Given the description of an element on the screen output the (x, y) to click on. 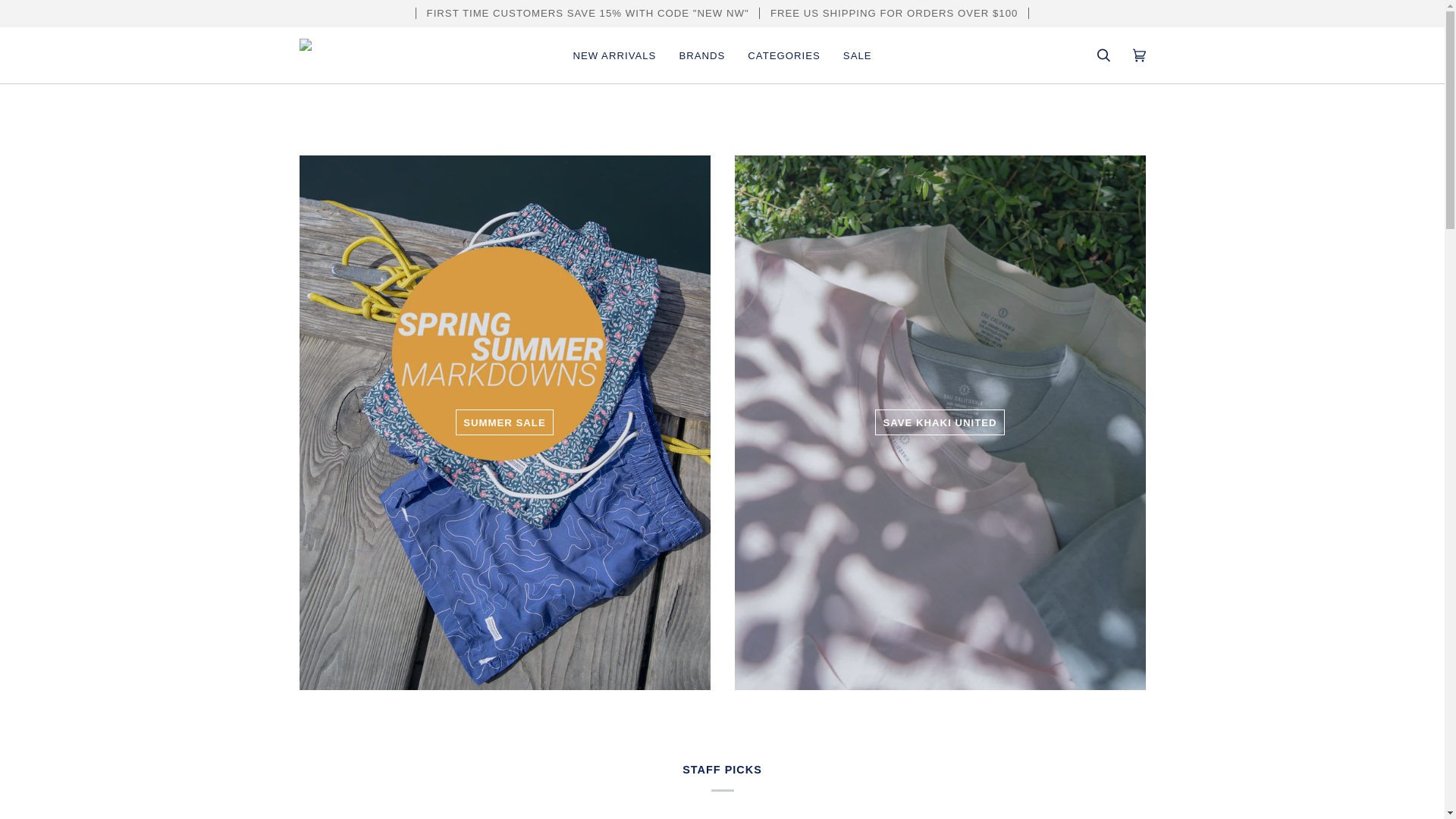
NEW ARRIVALS (613, 55)
BRANDS (701, 55)
